Given the description of an element on the screen output the (x, y) to click on. 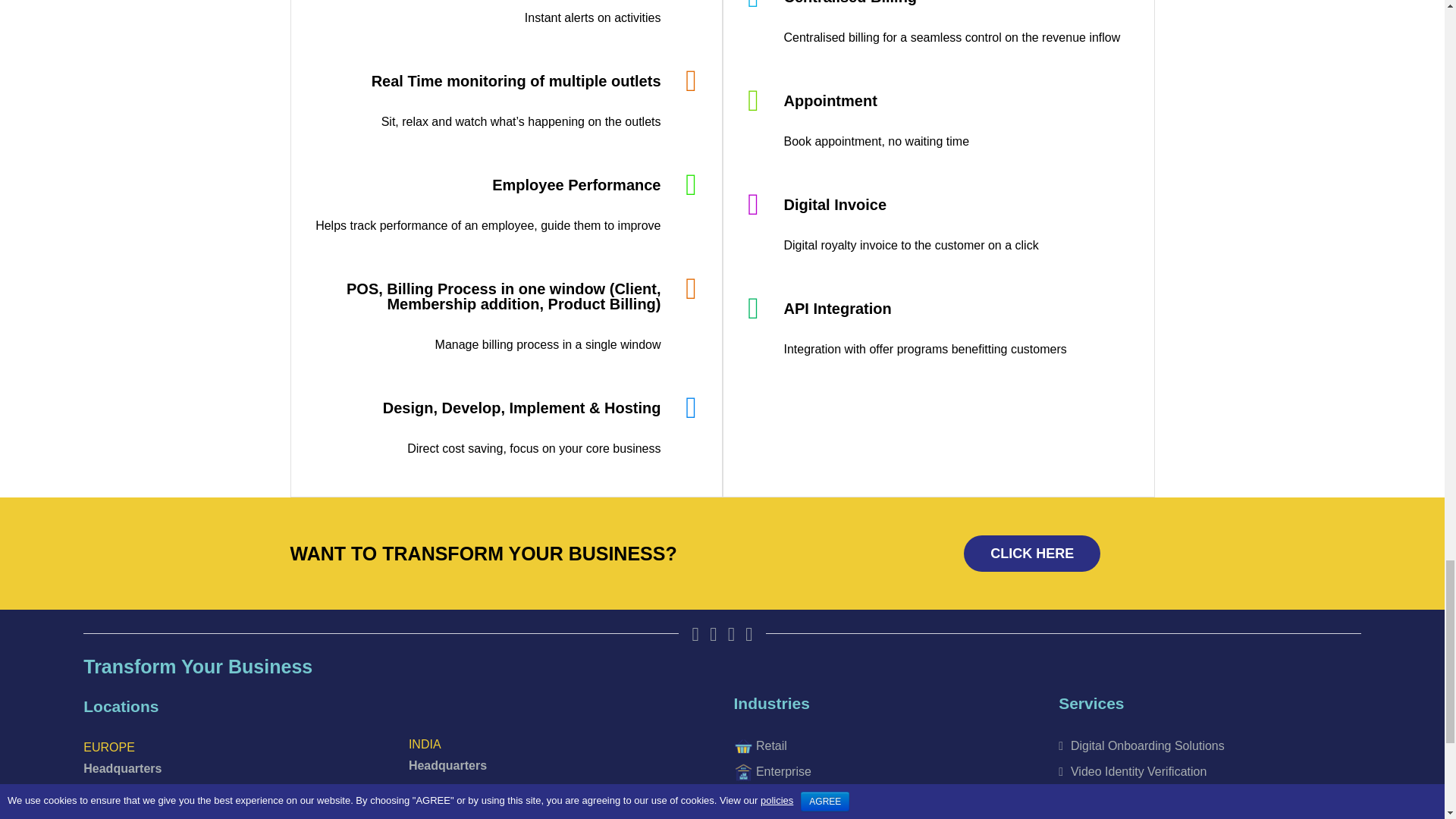
CLICK HERE (1031, 553)
WANT TO TRANSFORM YOUR BUSINESS? (483, 553)
